Given the description of an element on the screen output the (x, y) to click on. 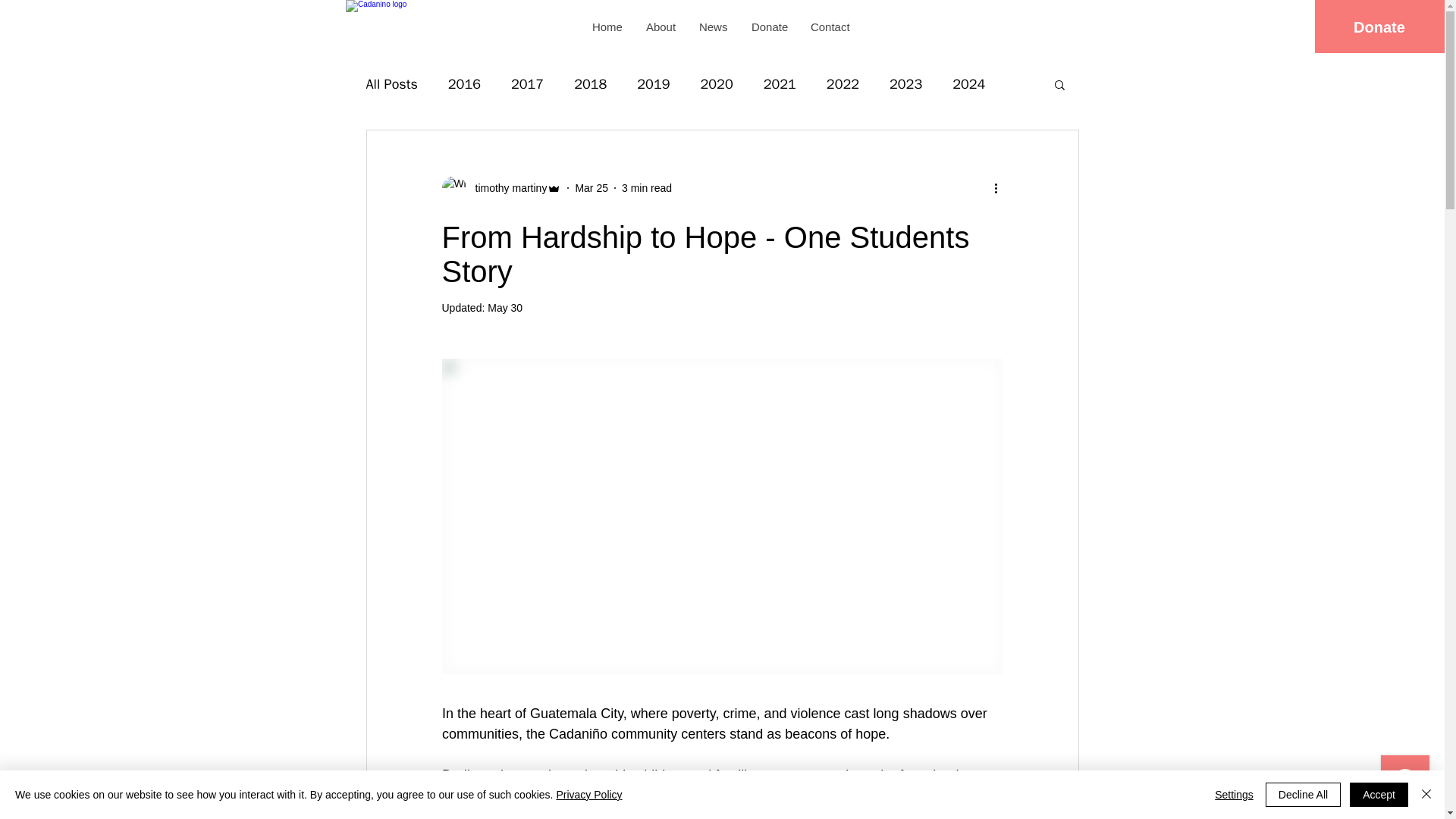
About (660, 27)
Log In (1031, 27)
All Posts (390, 84)
2017 (527, 84)
2021 (779, 84)
Home (606, 27)
News (713, 27)
Donate (768, 27)
Donate (1378, 27)
2016 (464, 84)
timothy martiny (506, 188)
May 30 (504, 307)
2020 (716, 84)
2018 (590, 84)
3 min read (646, 187)
